Given the description of an element on the screen output the (x, y) to click on. 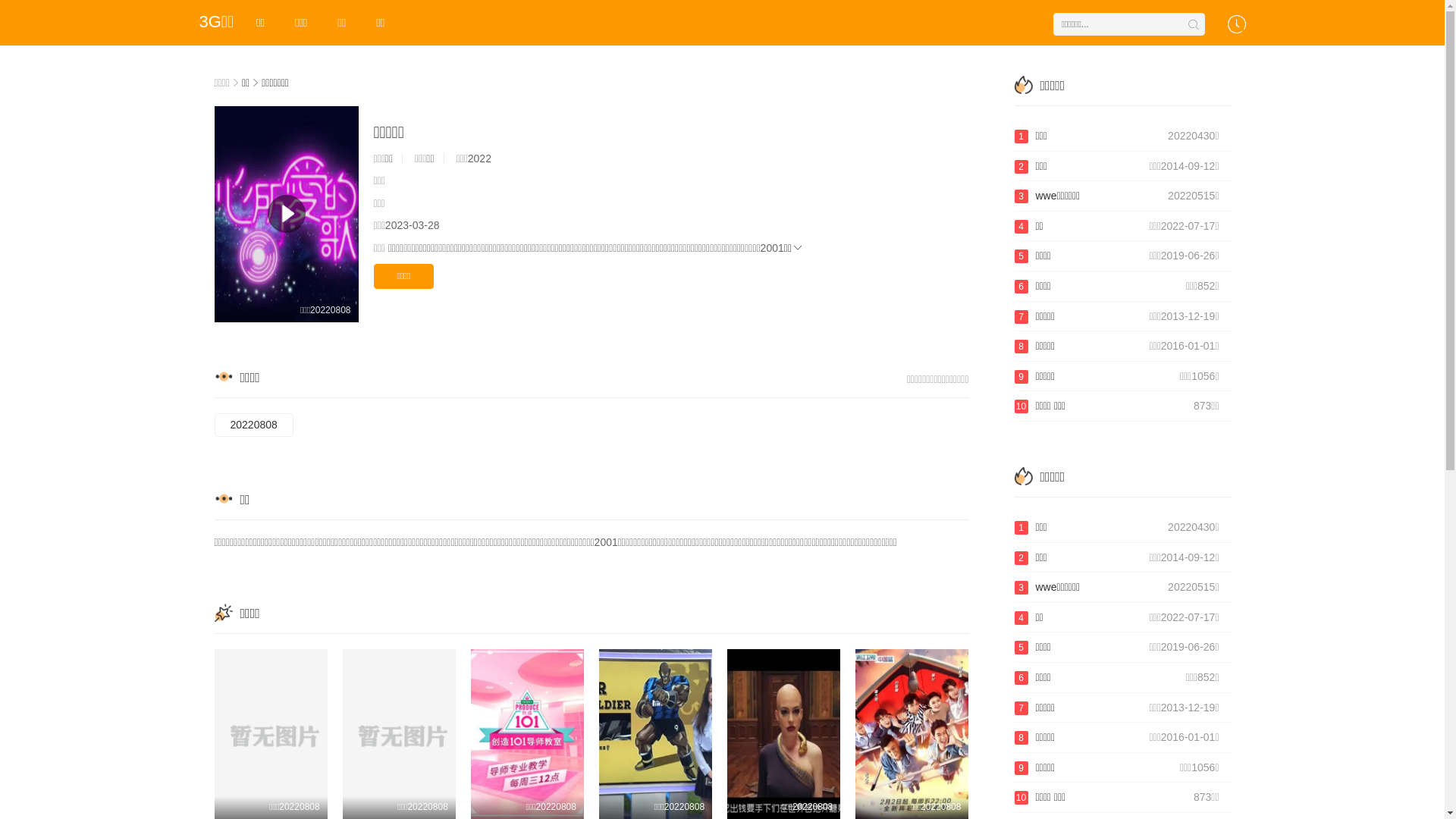
20220808 Element type: text (252, 425)
